Given the description of an element on the screen output the (x, y) to click on. 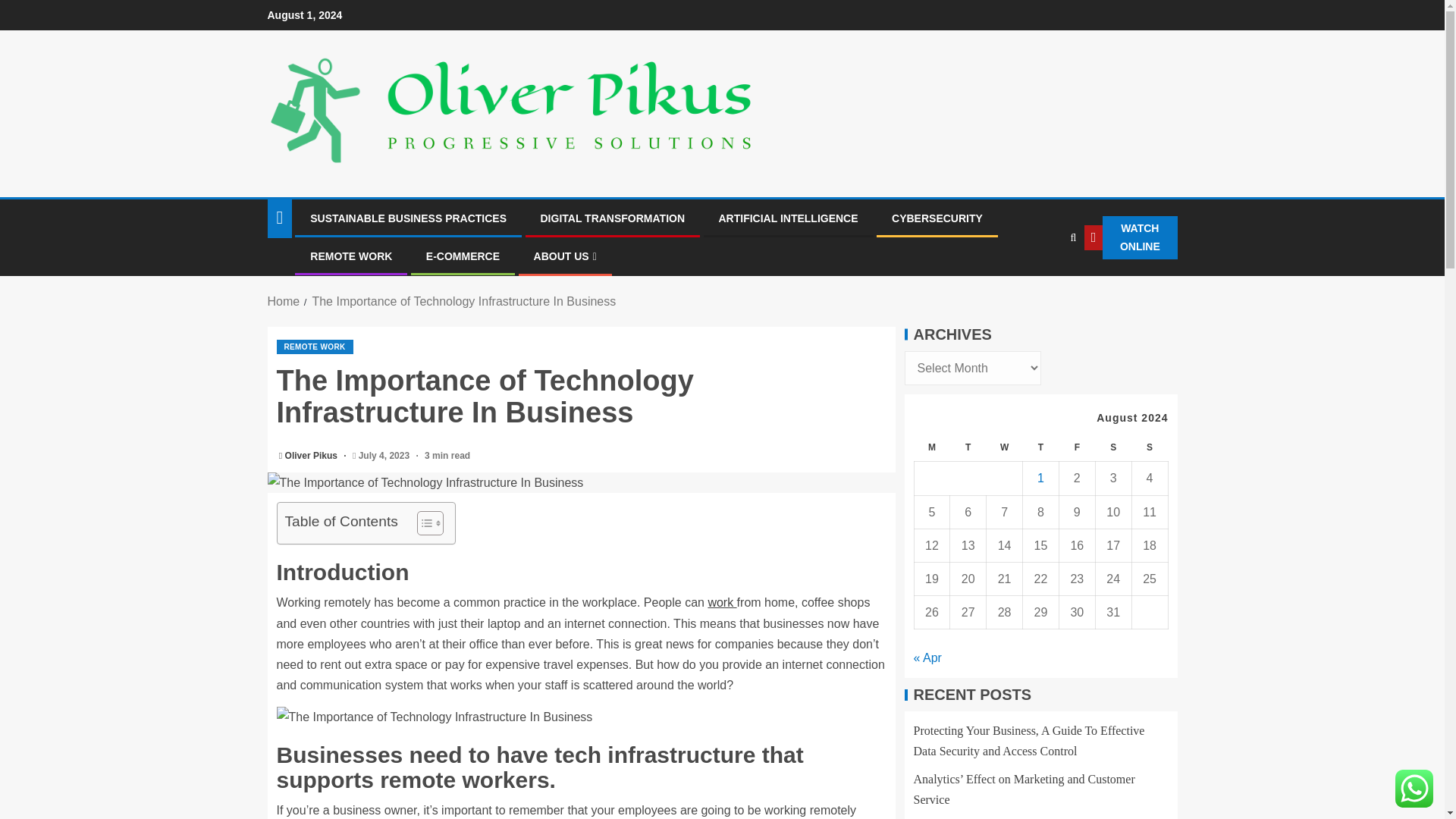
Monday (932, 447)
Tuesday (968, 447)
The Importance of Technology Infrastructure In Business (463, 300)
ABOUT US (565, 256)
Home (282, 300)
The Importance of Technology Infrastructure In Business (580, 482)
REMOTE WORK (350, 256)
Search (1041, 284)
E-COMMERCE (462, 256)
REMOTE WORK (314, 346)
Oliver Pikus (312, 455)
CYBERSECURITY (936, 218)
DIGITAL TRANSFORMATION (612, 218)
SUSTAINABLE BUSINESS PRACTICES (408, 218)
The Importance of Technology Infrastructure In Business (434, 716)
